Given the description of an element on the screen output the (x, y) to click on. 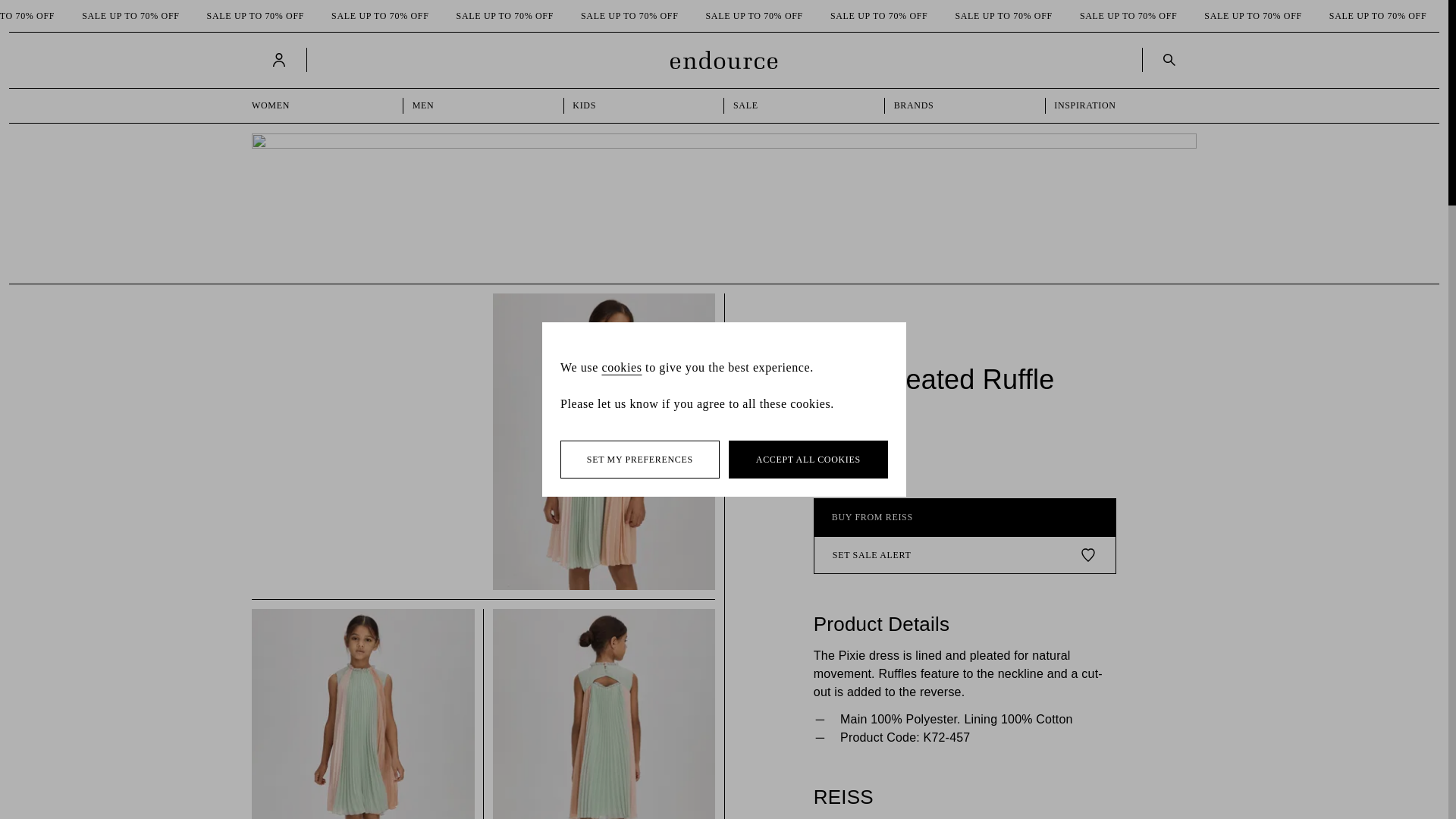
Search (1166, 59)
Search (1168, 59)
ACCOUNT (281, 59)
Account (278, 59)
WOMEN (323, 105)
